Given the description of an element on the screen output the (x, y) to click on. 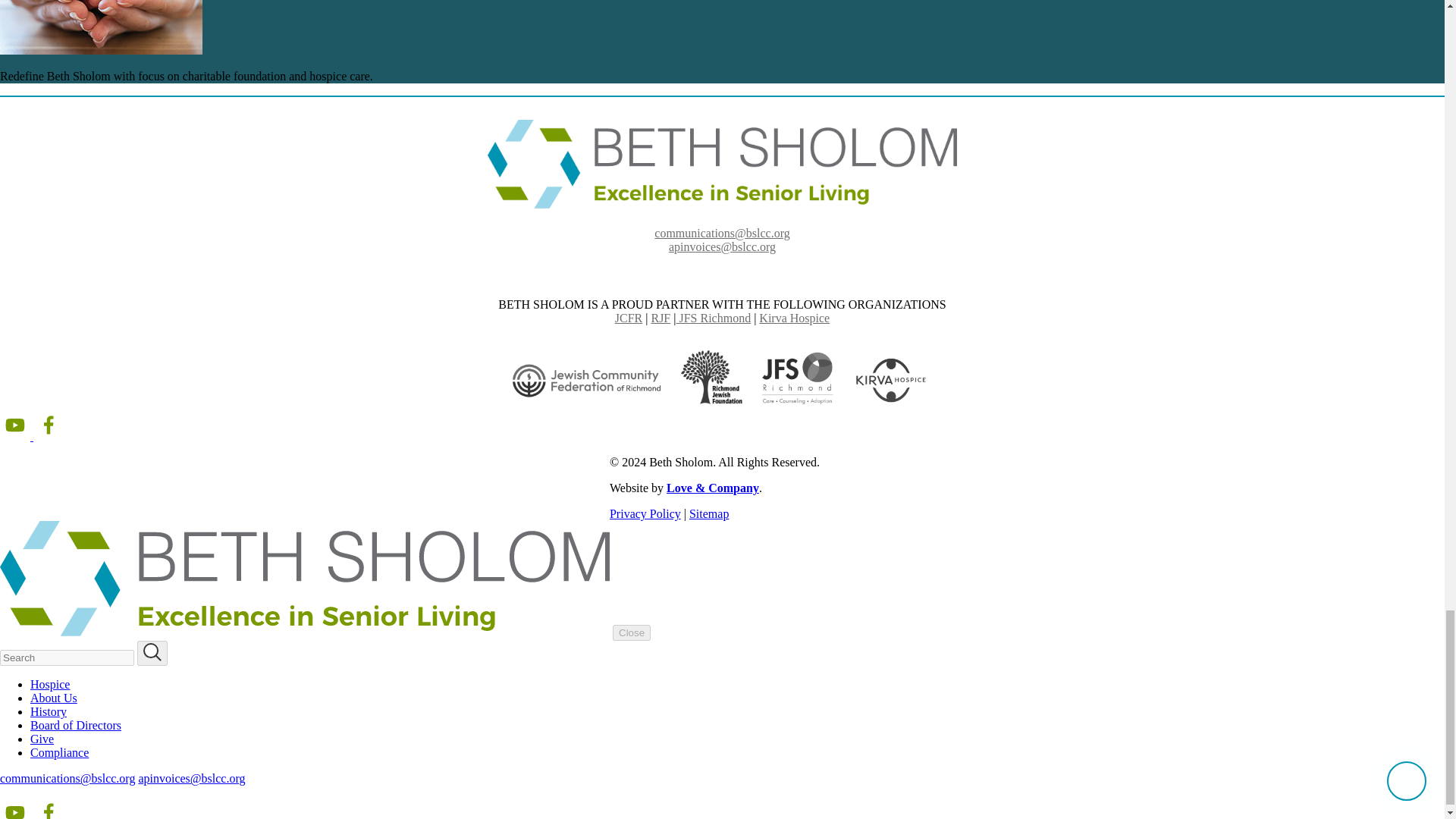
History (48, 711)
Compliance (59, 752)
JCFR (628, 318)
JFS Richmond (713, 318)
Sitemap (708, 513)
RJF (659, 318)
Give (41, 738)
About Us (53, 697)
Board of Directors (75, 725)
Hospice (49, 684)
Close (631, 632)
Privacy Policy (645, 513)
Kirva Hospice (793, 318)
